Given the description of an element on the screen output the (x, y) to click on. 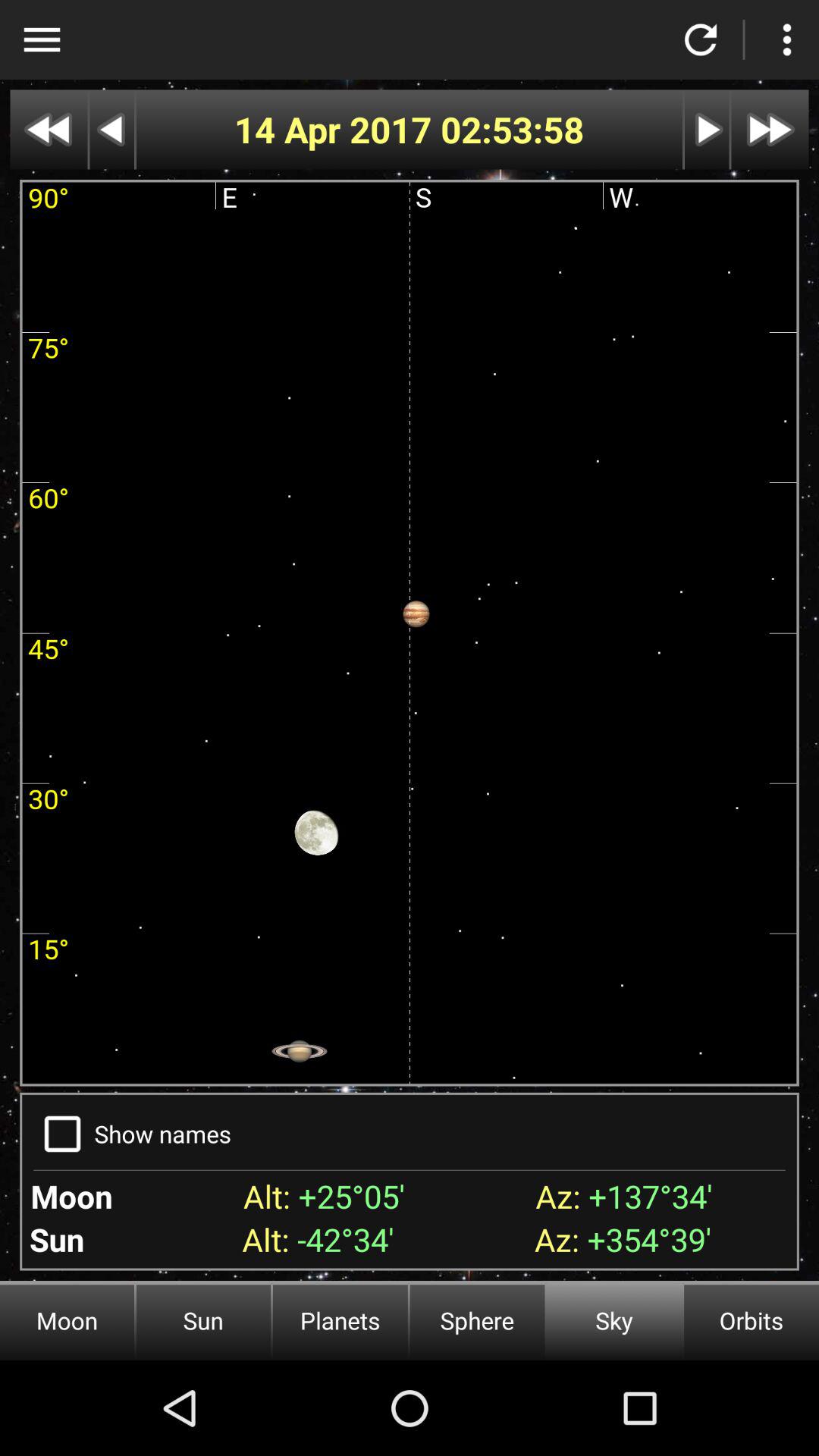
go to settings (41, 39)
